Given the description of an element on the screen output the (x, y) to click on. 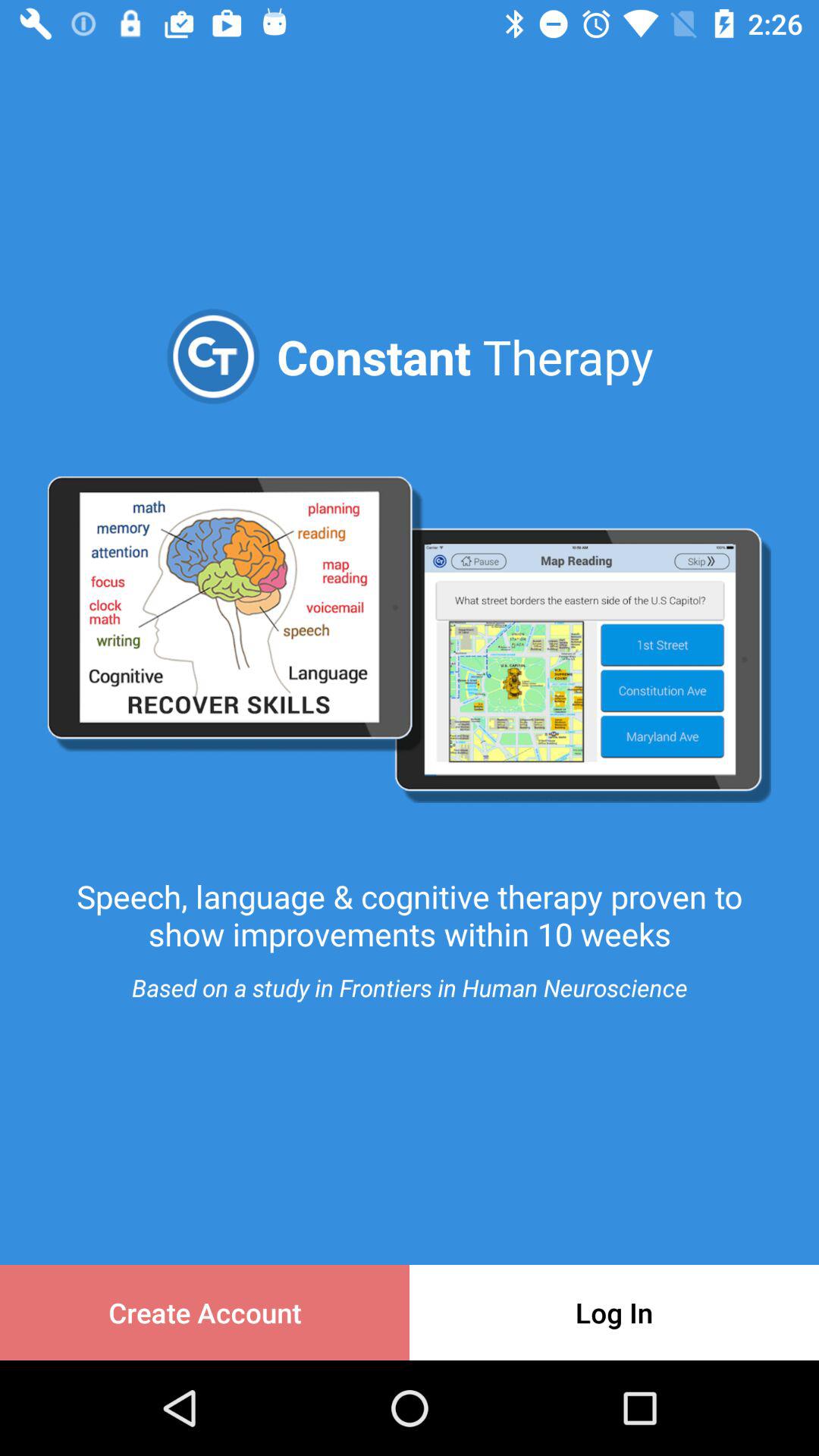
scroll until the create account icon (204, 1312)
